Given the description of an element on the screen output the (x, y) to click on. 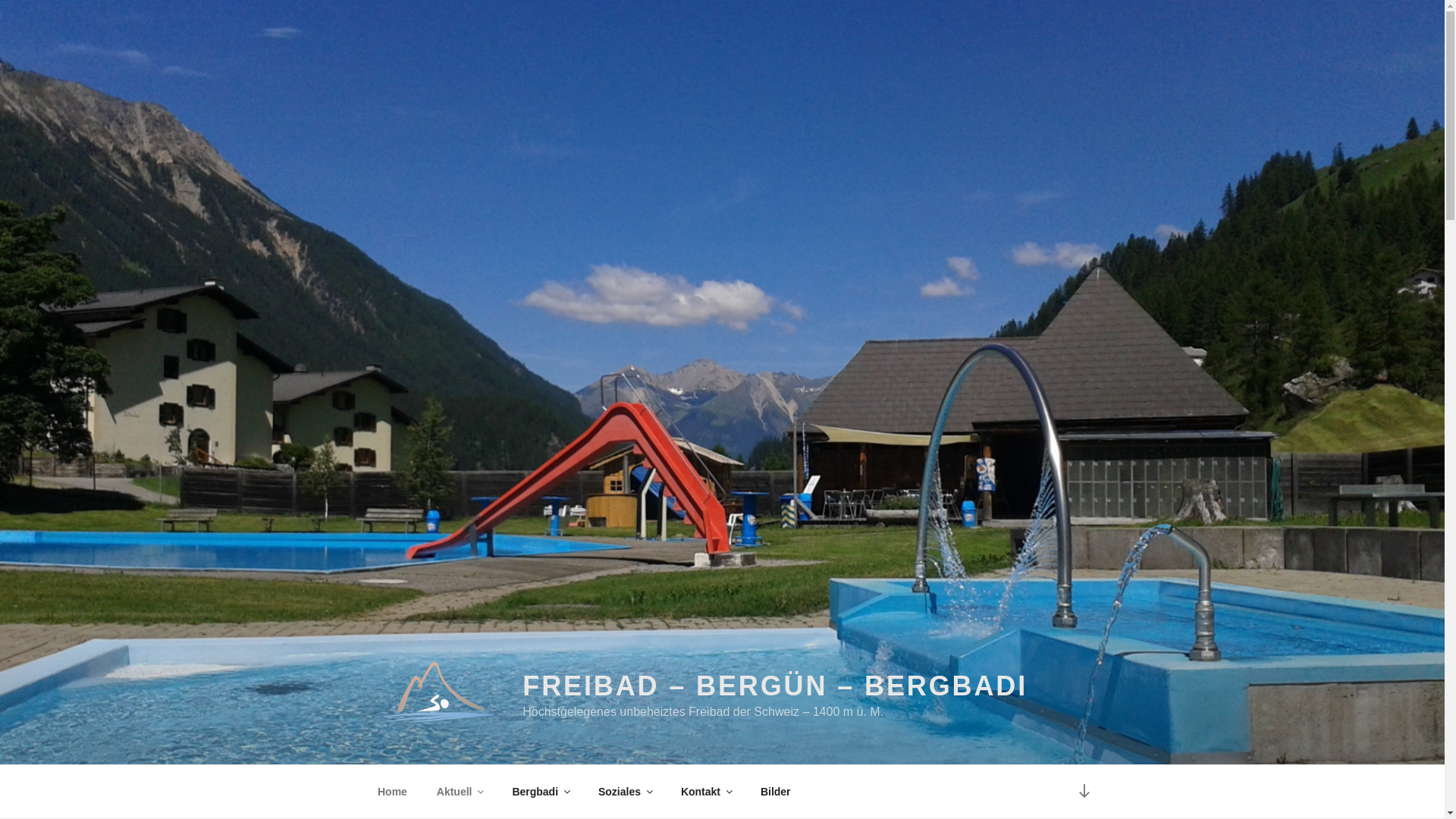
Aktuell Element type: text (459, 791)
Kontakt Element type: text (705, 791)
Bilder Element type: text (774, 791)
Soziales Element type: text (624, 791)
Bergbadi Element type: text (540, 791)
Zum Inhalt nach unten scrollen Element type: text (1083, 790)
Home Element type: text (392, 791)
